Given the description of an element on the screen output the (x, y) to click on. 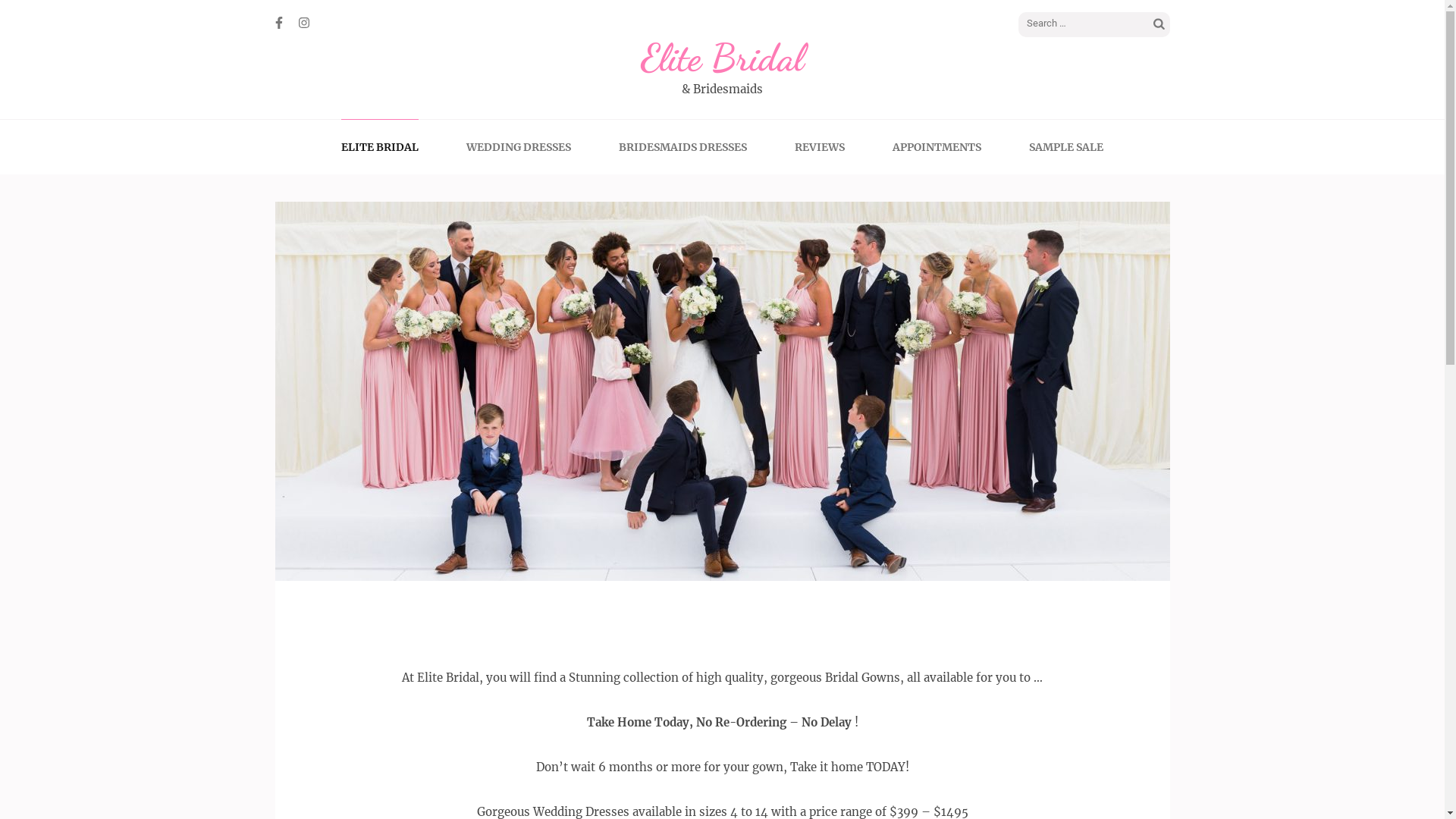
REVIEWS Element type: text (819, 146)
Facebook Element type: hover (278, 22)
APPOINTMENTS Element type: text (936, 146)
Search Element type: text (1158, 24)
WEDDING DRESSES Element type: text (518, 146)
SAMPLE SALE Element type: text (1066, 146)
Instagram Element type: hover (303, 22)
BRIDESMAIDS DRESSES Element type: text (682, 146)
ELITE BRIDAL Element type: text (379, 146)
Elite Bridal Element type: text (721, 57)
